Given the description of an element on the screen output the (x, y) to click on. 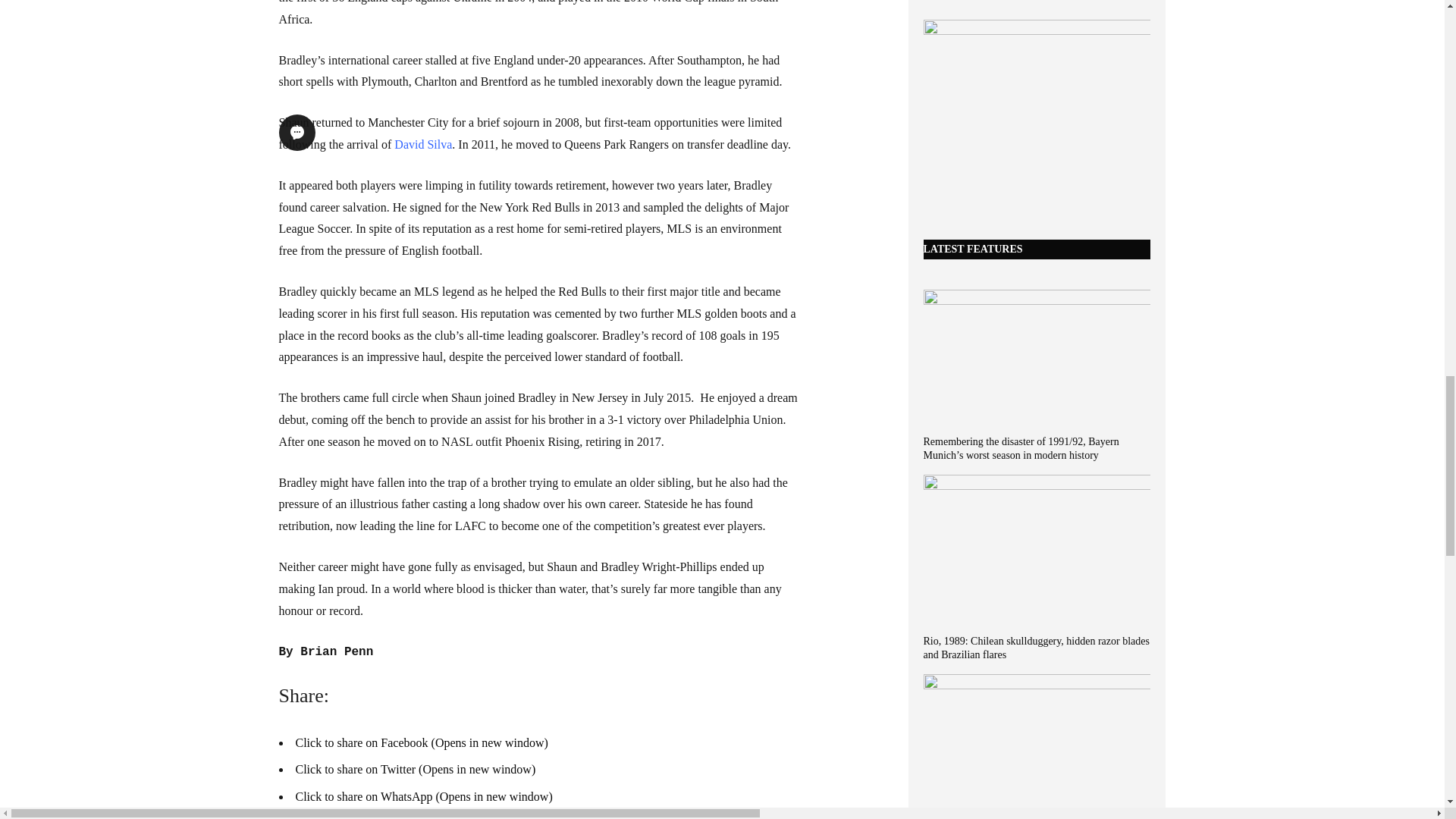
Click to share on Twitter (415, 768)
Click to share on Facebook (421, 742)
Click to share on WhatsApp (424, 796)
